Given the description of an element on the screen output the (x, y) to click on. 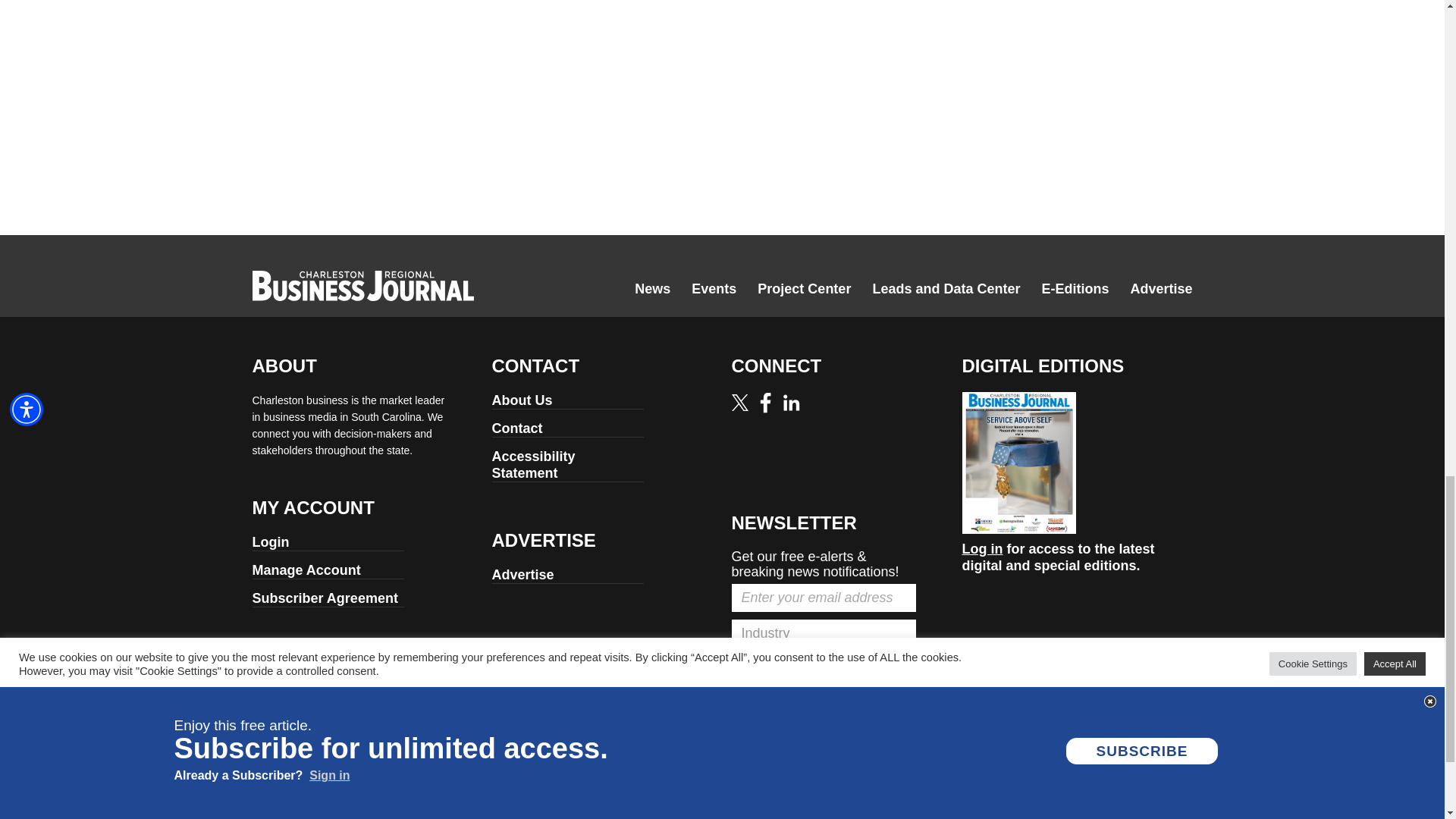
3rd party ad content (604, 178)
3rd party ad content (1079, 54)
